Given the description of an element on the screen output the (x, y) to click on. 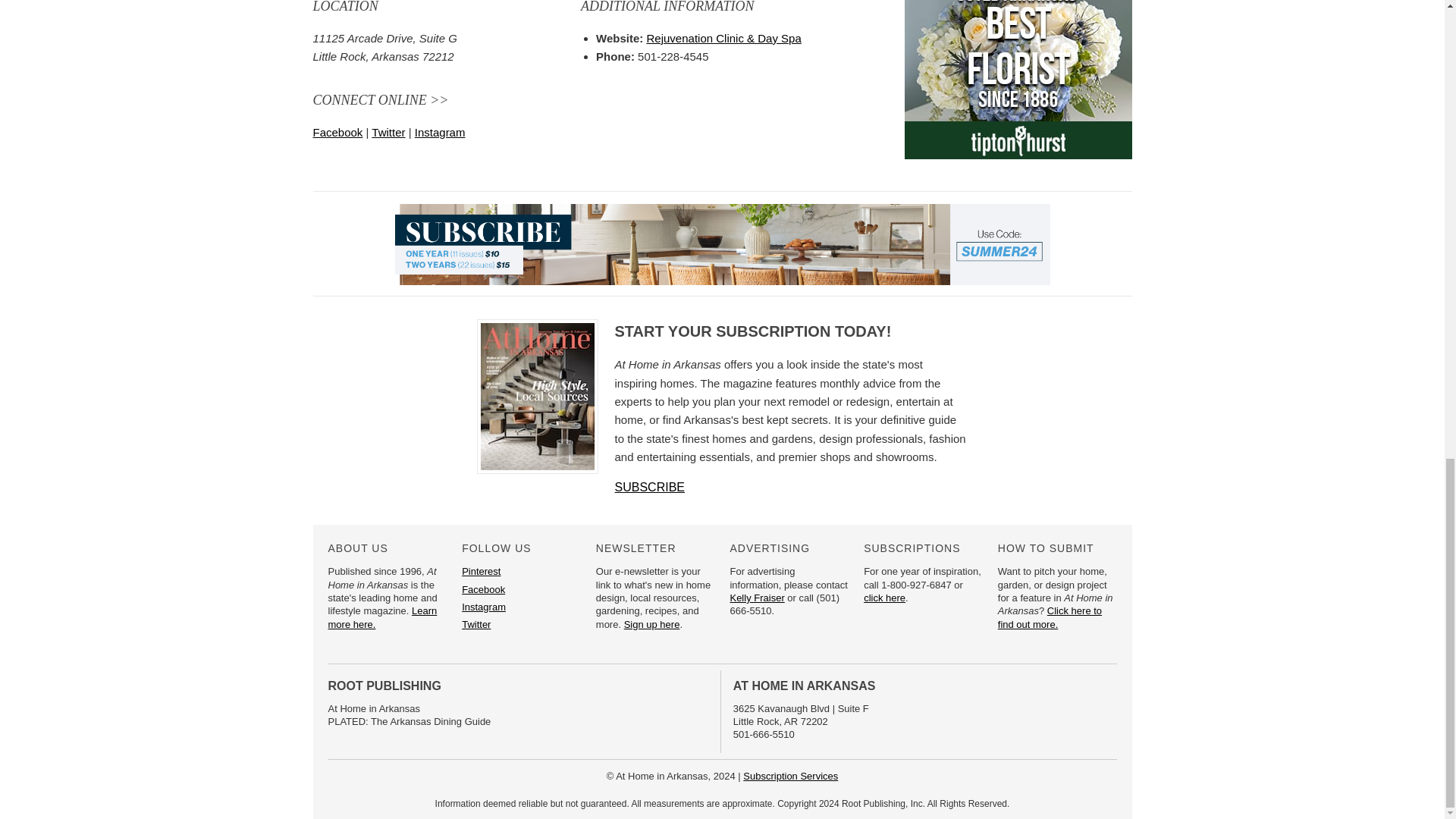
Subscribe (790, 776)
